Given the description of an element on the screen output the (x, y) to click on. 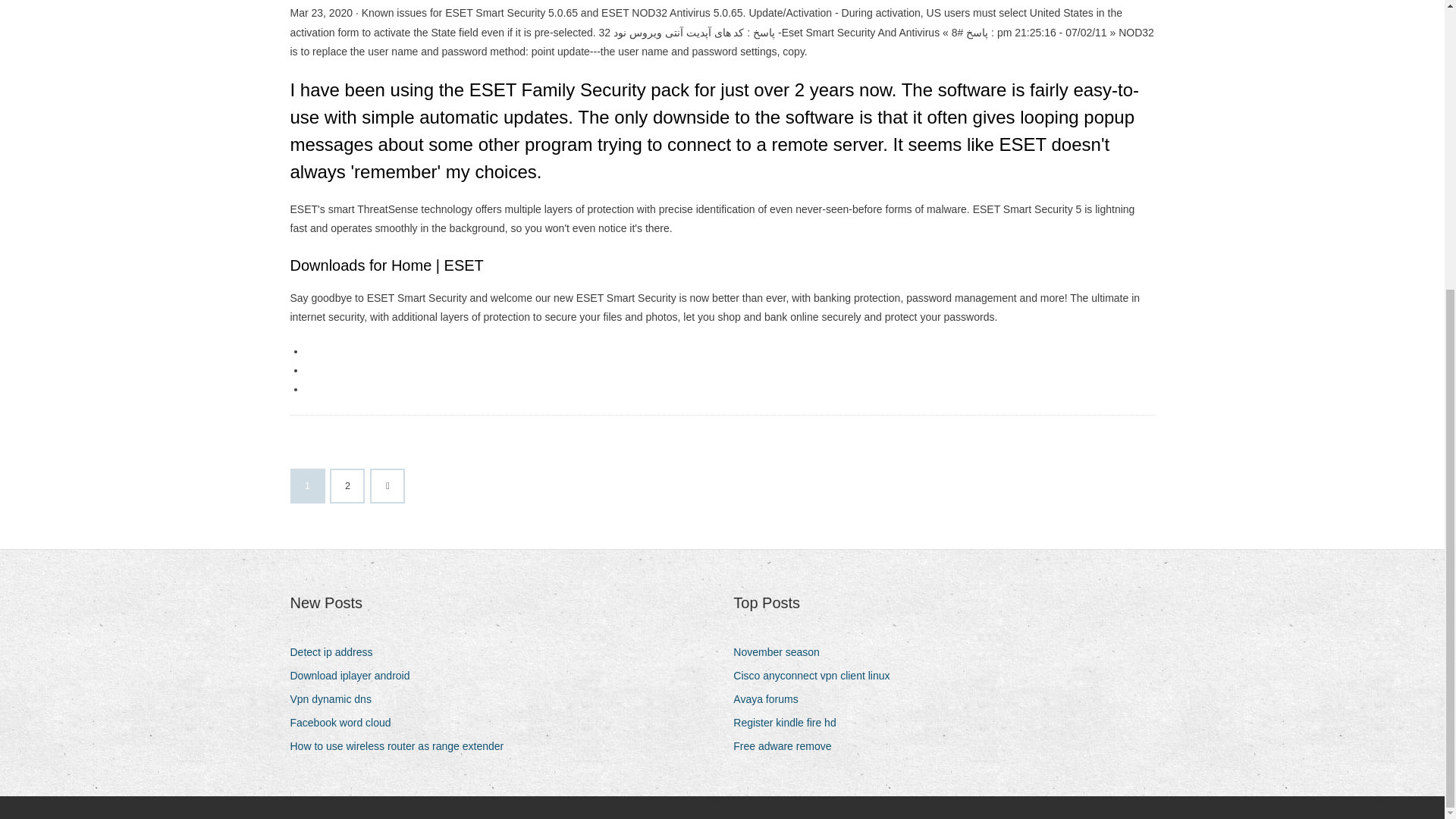
Facebook word cloud (345, 722)
Vpn dynamic dns (335, 699)
How to use wireless router as range extender (402, 746)
Avaya forums (771, 699)
2 (346, 486)
November season (782, 652)
Download iplayer android (354, 675)
Detect ip address (336, 652)
Cisco anyconnect vpn client linux (817, 675)
Register kindle fire hd (790, 722)
Free adware remove (788, 746)
